Given the description of an element on the screen output the (x, y) to click on. 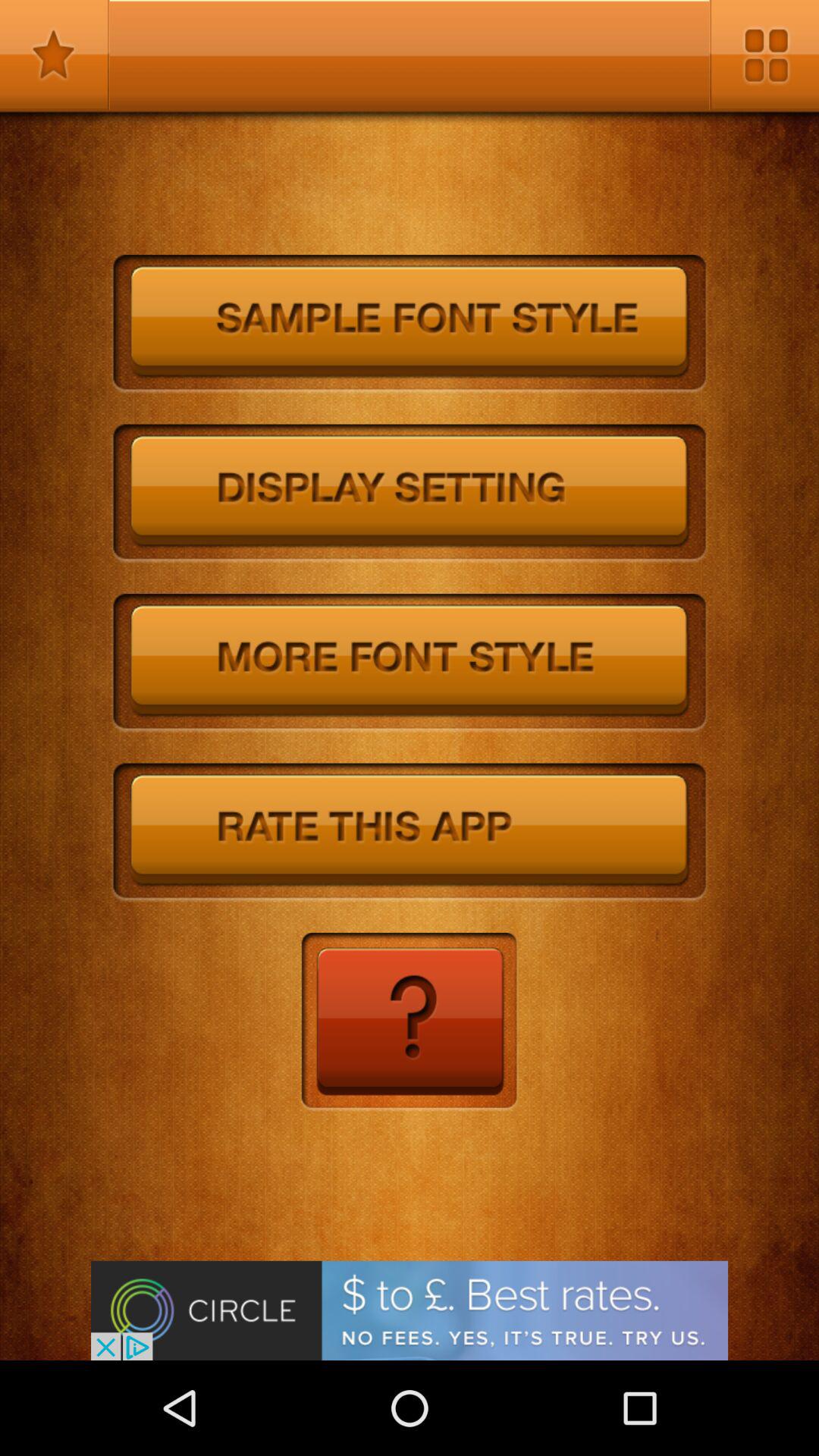
select more font style option (409, 663)
